Given the description of an element on the screen output the (x, y) to click on. 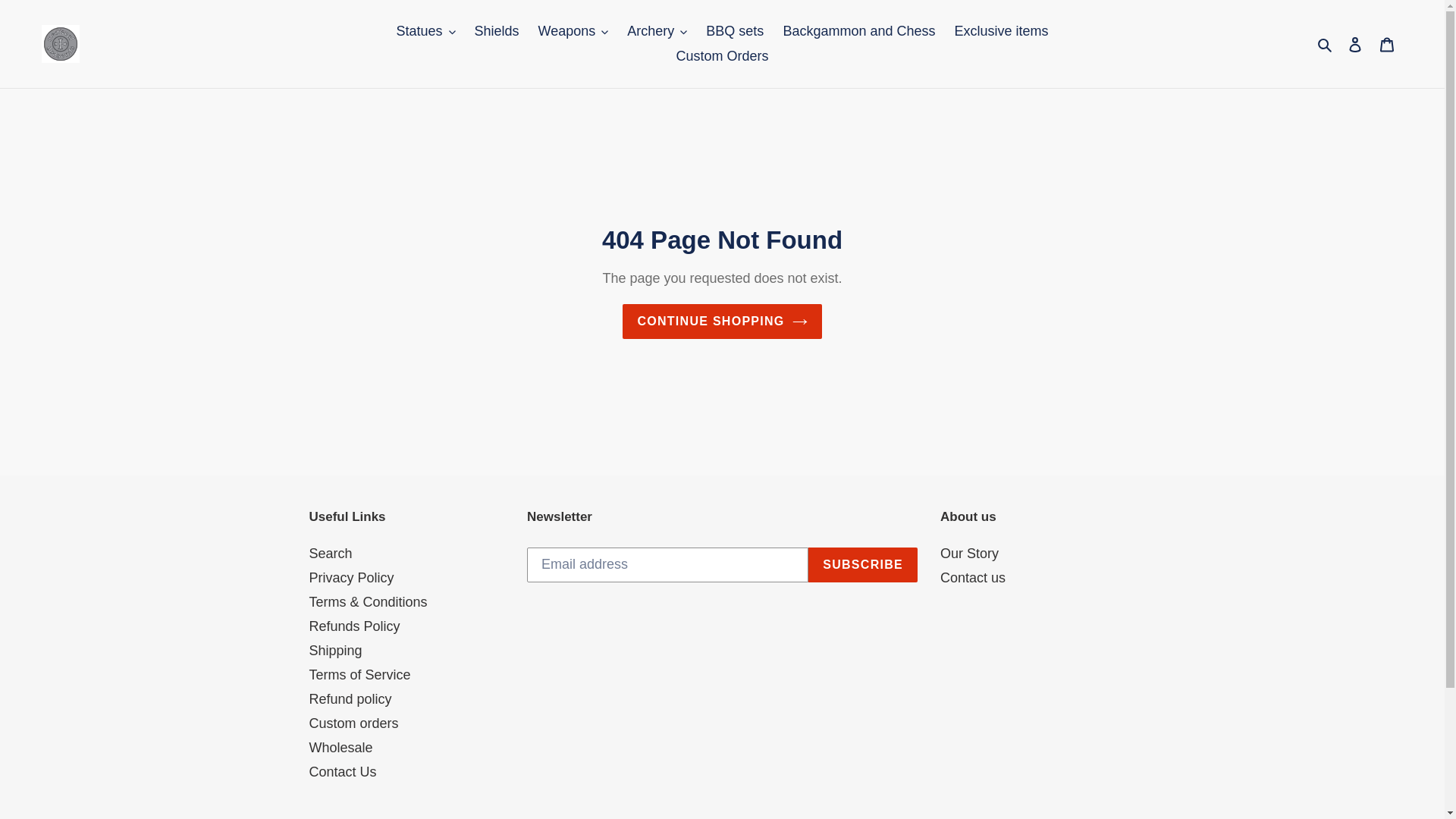
Exclusive items (1002, 31)
Weapons (573, 31)
Search (1326, 44)
Log in (1355, 43)
Shields (497, 31)
Archery (657, 31)
Custom Orders (722, 56)
BBQ sets (734, 31)
Cart (1387, 43)
Statues (425, 31)
